Given the description of an element on the screen output the (x, y) to click on. 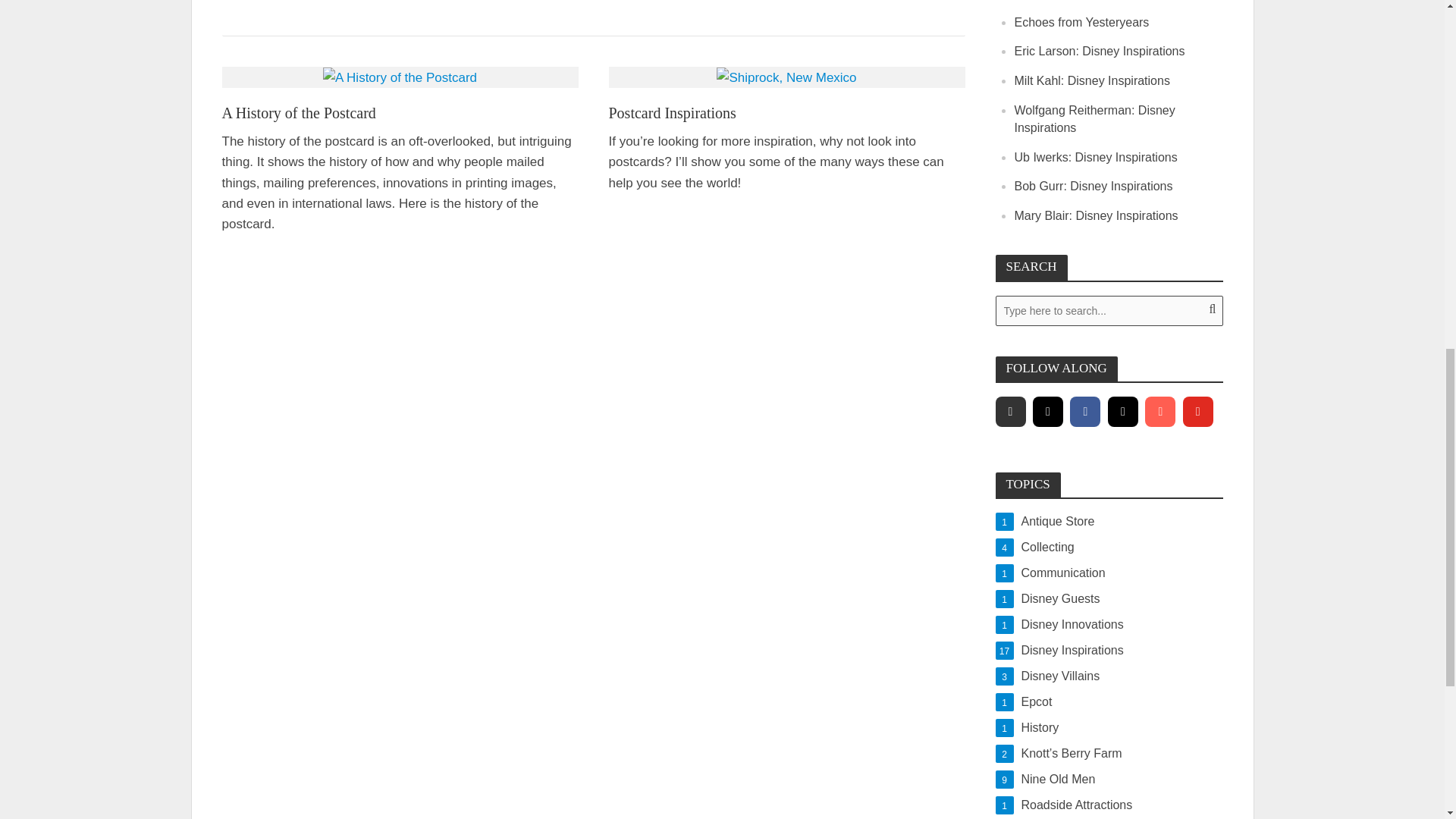
Eric Larson: Disney Inspirations (1099, 51)
Mail (1123, 411)
facebook (1085, 411)
Echoes from Yesteryears (1082, 21)
instagram (1047, 411)
ebay (1009, 411)
A History of the Postcard (400, 76)
mail (1123, 411)
Postcard Inspirations (785, 113)
Ub Iwerks: Disney Inspirations (1095, 156)
A History of the Postcard (399, 113)
Facebook (1085, 411)
Instagram (1047, 411)
iTunes (1159, 411)
YouTube (1197, 411)
